Given the description of an element on the screen output the (x, y) to click on. 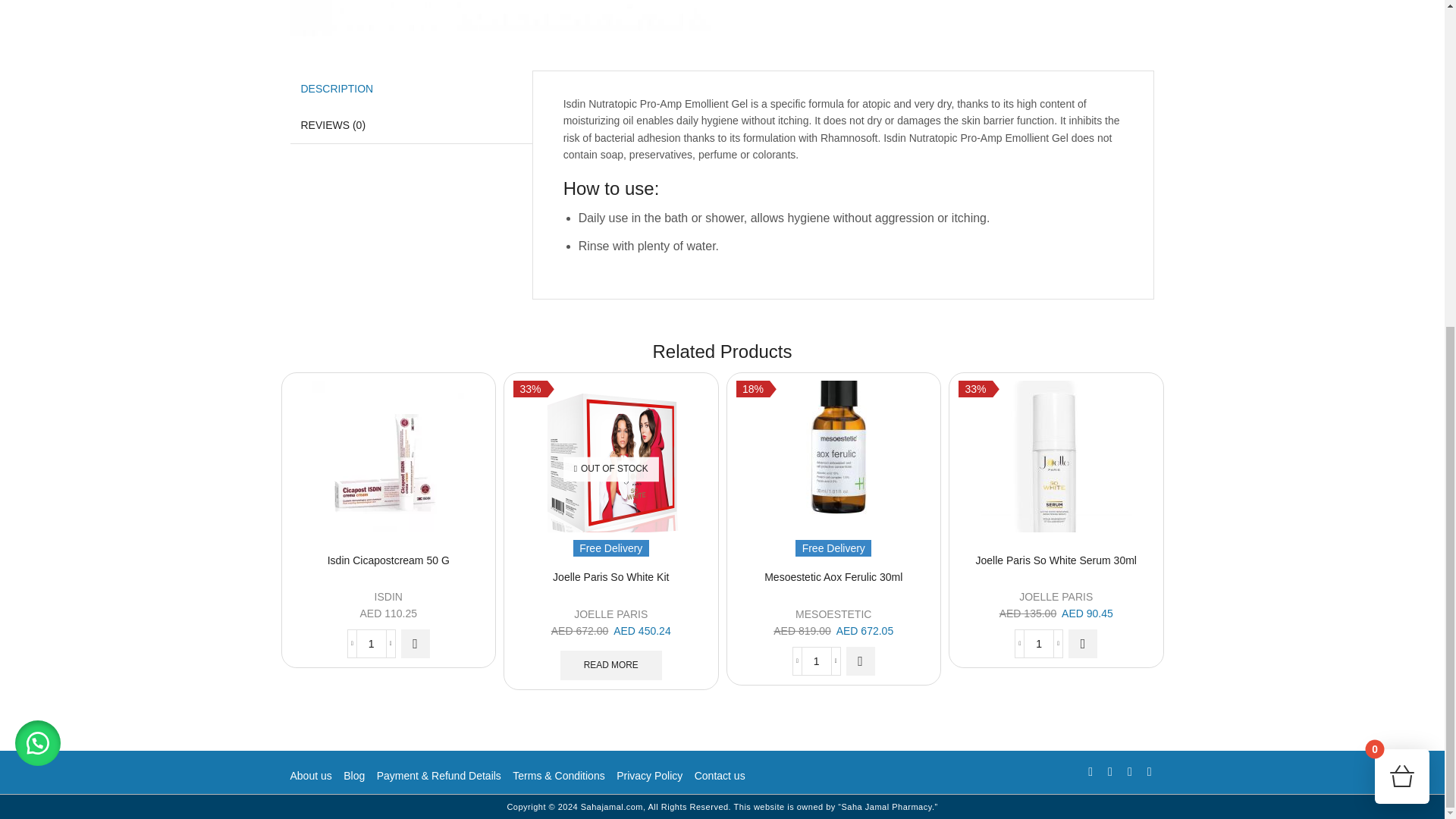
1 (1038, 643)
1 (816, 661)
1 (370, 643)
isdin-gel-de-bano.jpg (499, 18)
